Given the description of an element on the screen output the (x, y) to click on. 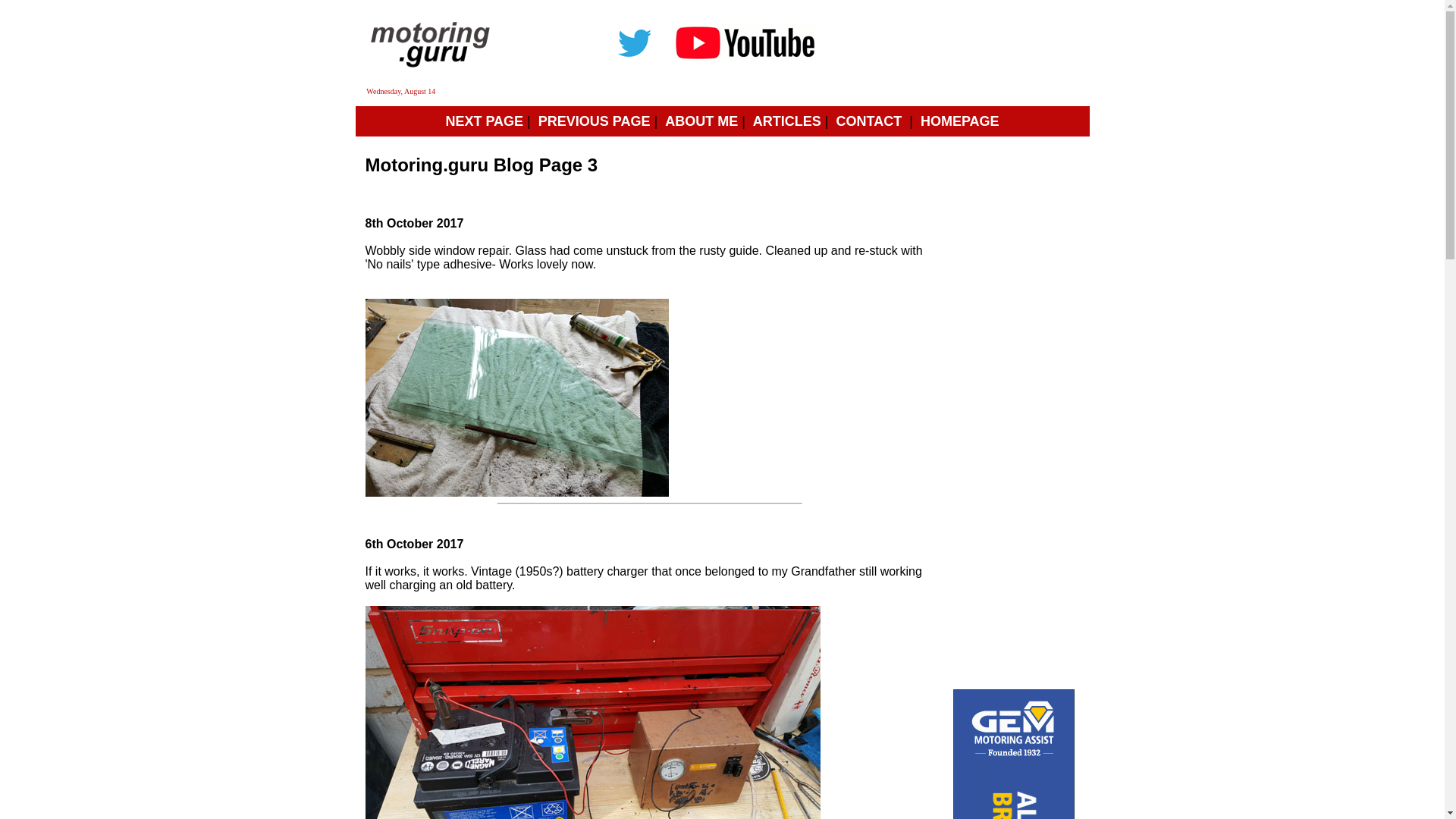
PREVIOUS PAGE (594, 120)
HOMEPAGE (959, 120)
NEXT PAGE (483, 120)
CONTACT (868, 120)
ABOUT ME (701, 120)
ARTICLES (786, 120)
